Given the description of an element on the screen output the (x, y) to click on. 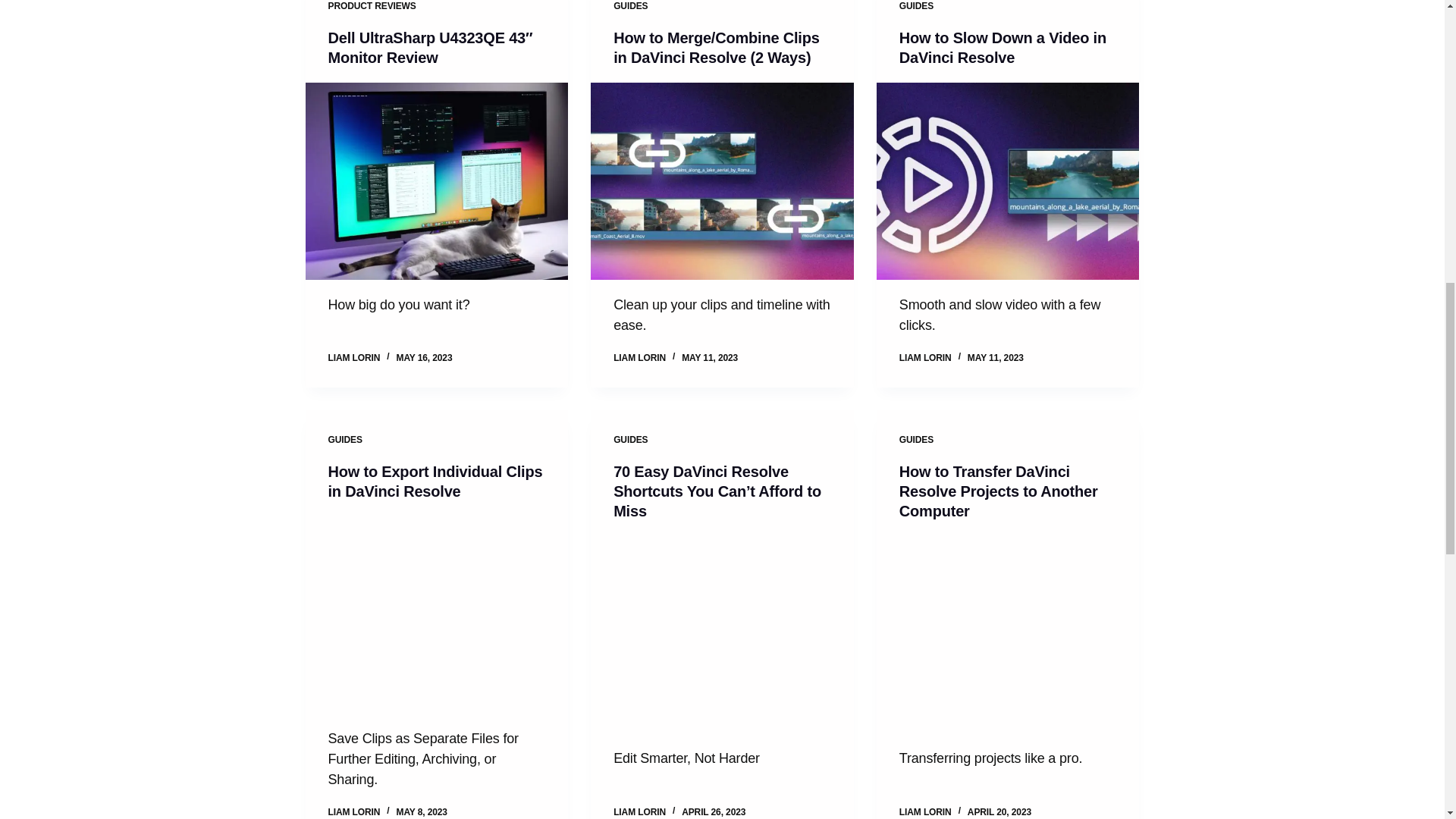
Posts by Liam Lorin (925, 811)
Posts by Liam Lorin (353, 811)
Posts by Liam Lorin (925, 357)
Posts by Liam Lorin (638, 811)
PRODUCT REVIEWS (370, 5)
LIAM LORIN (638, 357)
Posts by Liam Lorin (638, 357)
LIAM LORIN (353, 357)
GUIDES (629, 5)
GUIDES (916, 5)
